Given the description of an element on the screen output the (x, y) to click on. 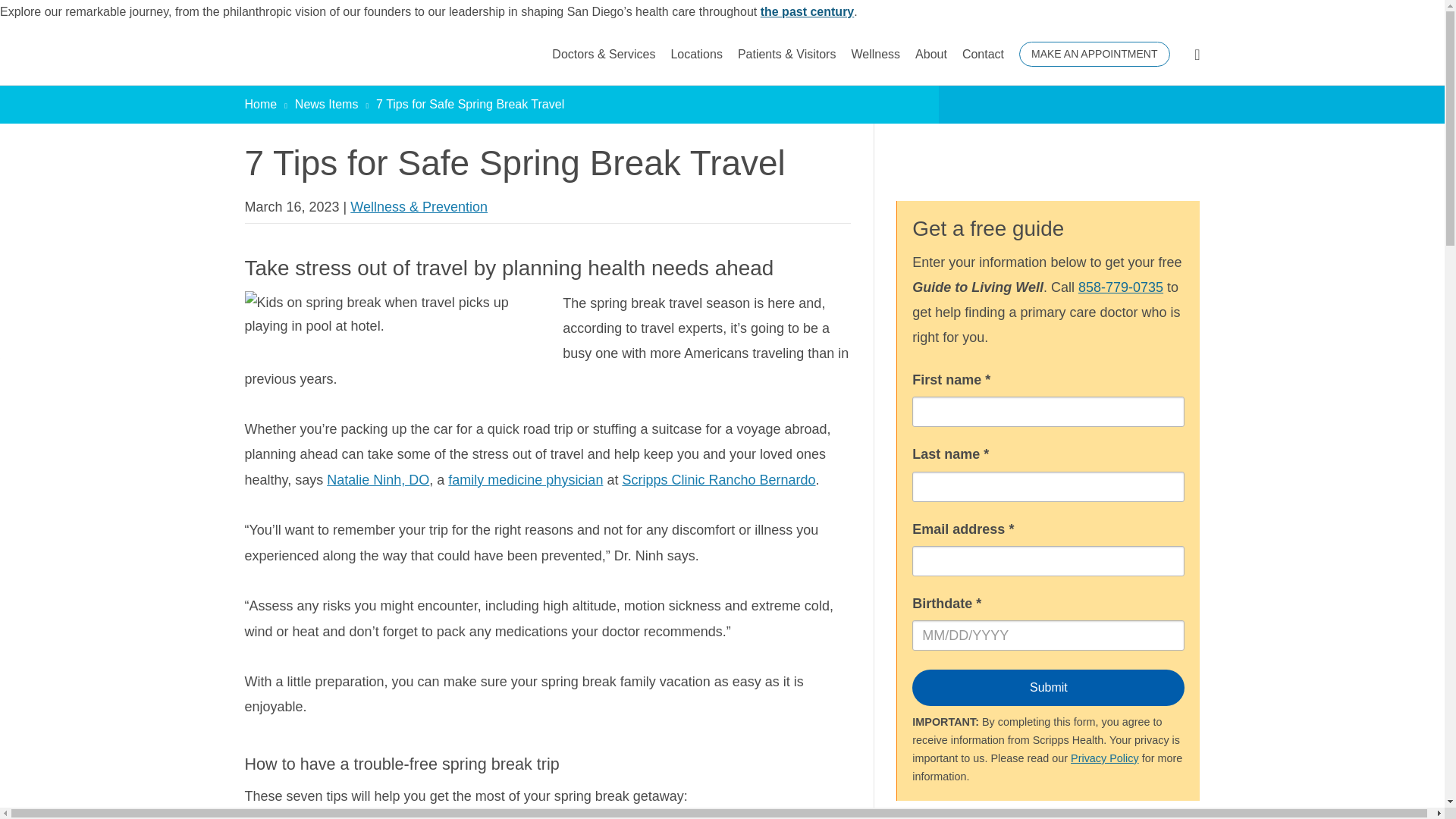
Please enter a valid email (1048, 561)
the past century (807, 11)
Wellness (874, 54)
858-779-0735 (1120, 287)
Locations (695, 54)
Submit (1048, 687)
